Given the description of an element on the screen output the (x, y) to click on. 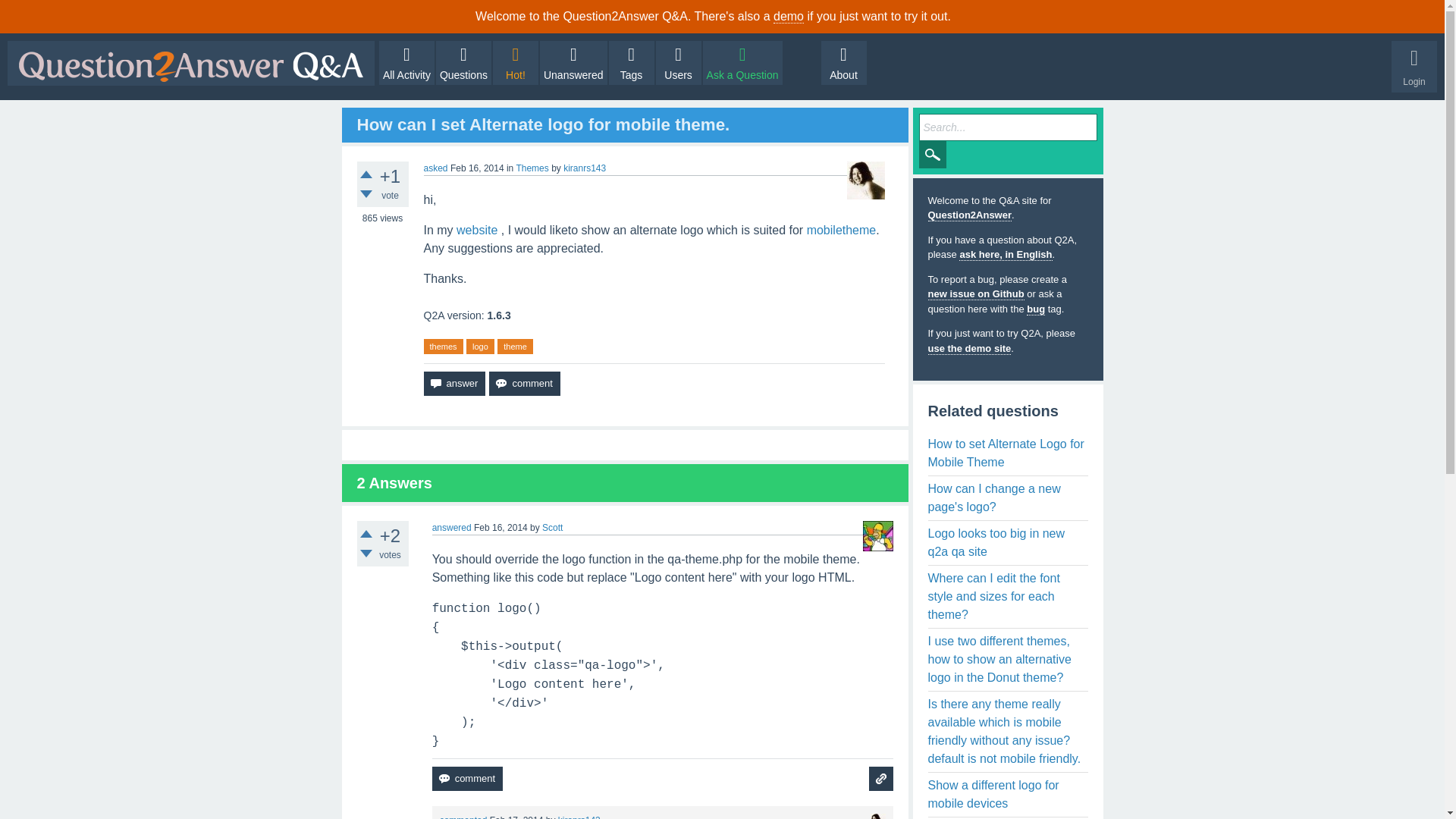
comment (524, 383)
mobiletheme (841, 229)
Scott (551, 527)
How can I set Alternate logo for mobile theme. (542, 124)
Click to vote up (365, 174)
comment (524, 383)
Users (678, 62)
About (843, 62)
Tags (630, 62)
ask related question (881, 778)
Click to vote down (365, 553)
Unanswered (573, 62)
kiranrs143 (584, 167)
theme (514, 346)
Answer this question (453, 383)
